Given the description of an element on the screen output the (x, y) to click on. 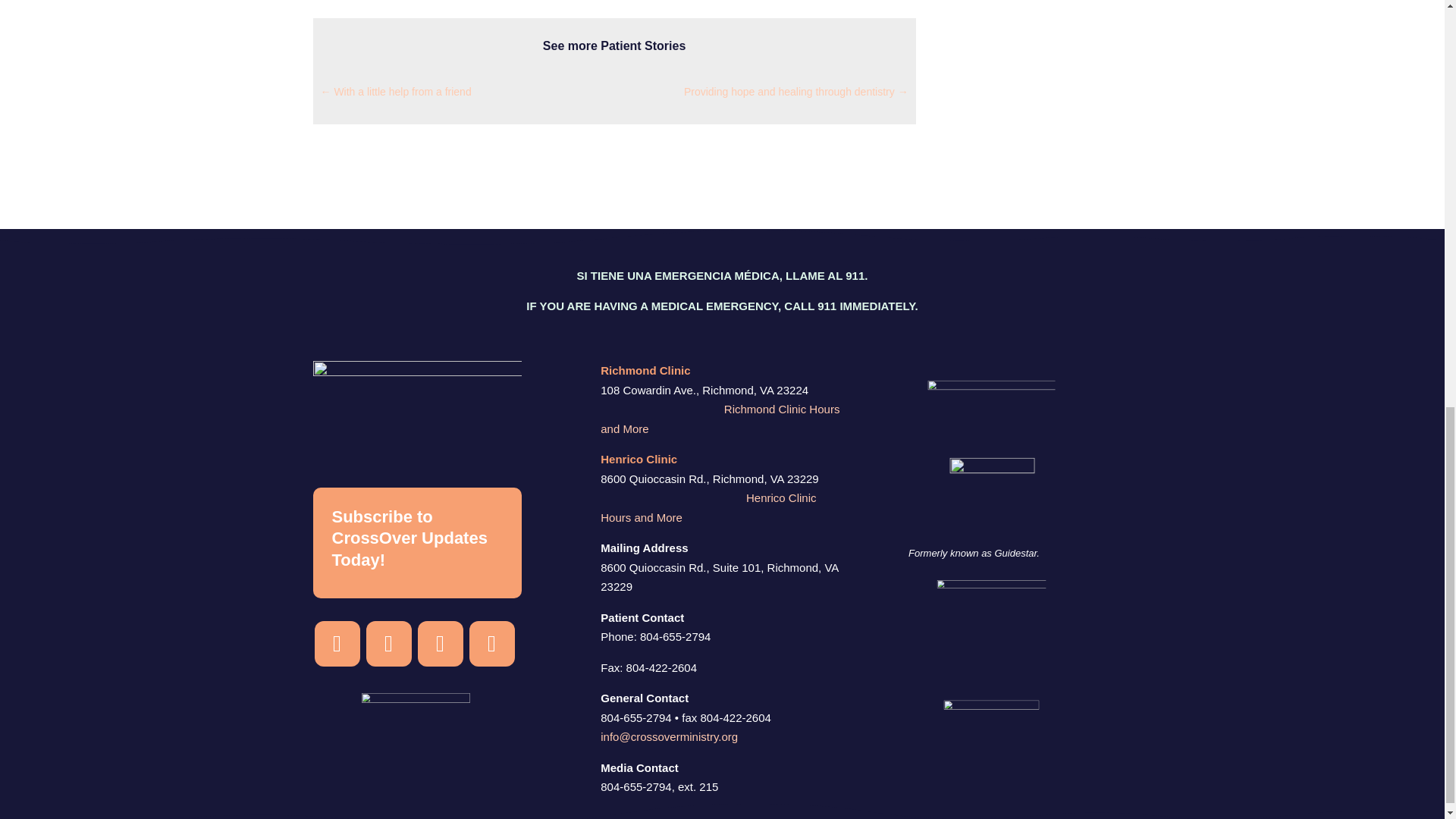
Follow on Twitter (490, 643)
Follow on Facebook (387, 643)
NAFC-Standards-Seal-Gold-2024 - sm - Transparent (1039, 682)
Follow on Instagram (336, 643)
Follow on Youtube (439, 643)
bbb-logo-color (1020, 751)
candid-seal-gold-2023 (990, 498)
